Given the description of an element on the screen output the (x, y) to click on. 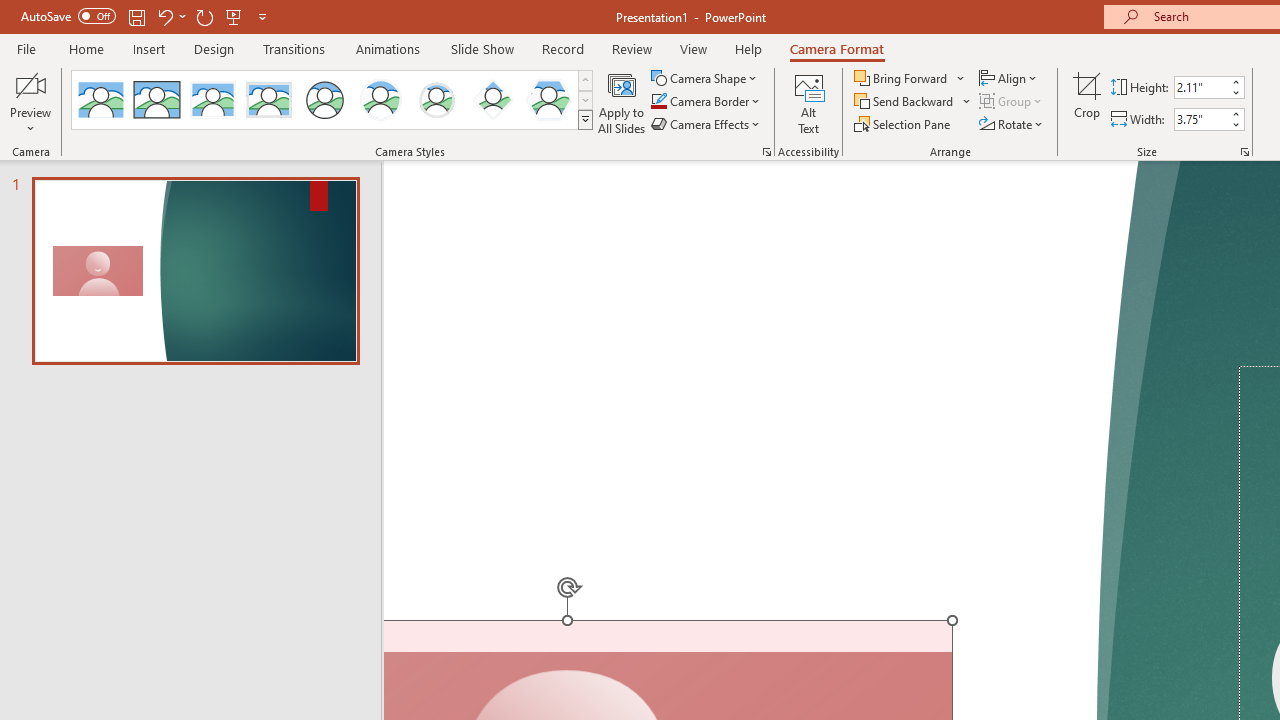
Simple Frame Rectangle (157, 100)
Center Shadow Rectangle (212, 100)
Bring Forward (902, 78)
Group (1012, 101)
Camera Styles (585, 120)
Rotate (1012, 124)
Soft Edge Circle (436, 100)
Send Backward (913, 101)
Cameo Height (1201, 87)
